Given the description of an element on the screen output the (x, y) to click on. 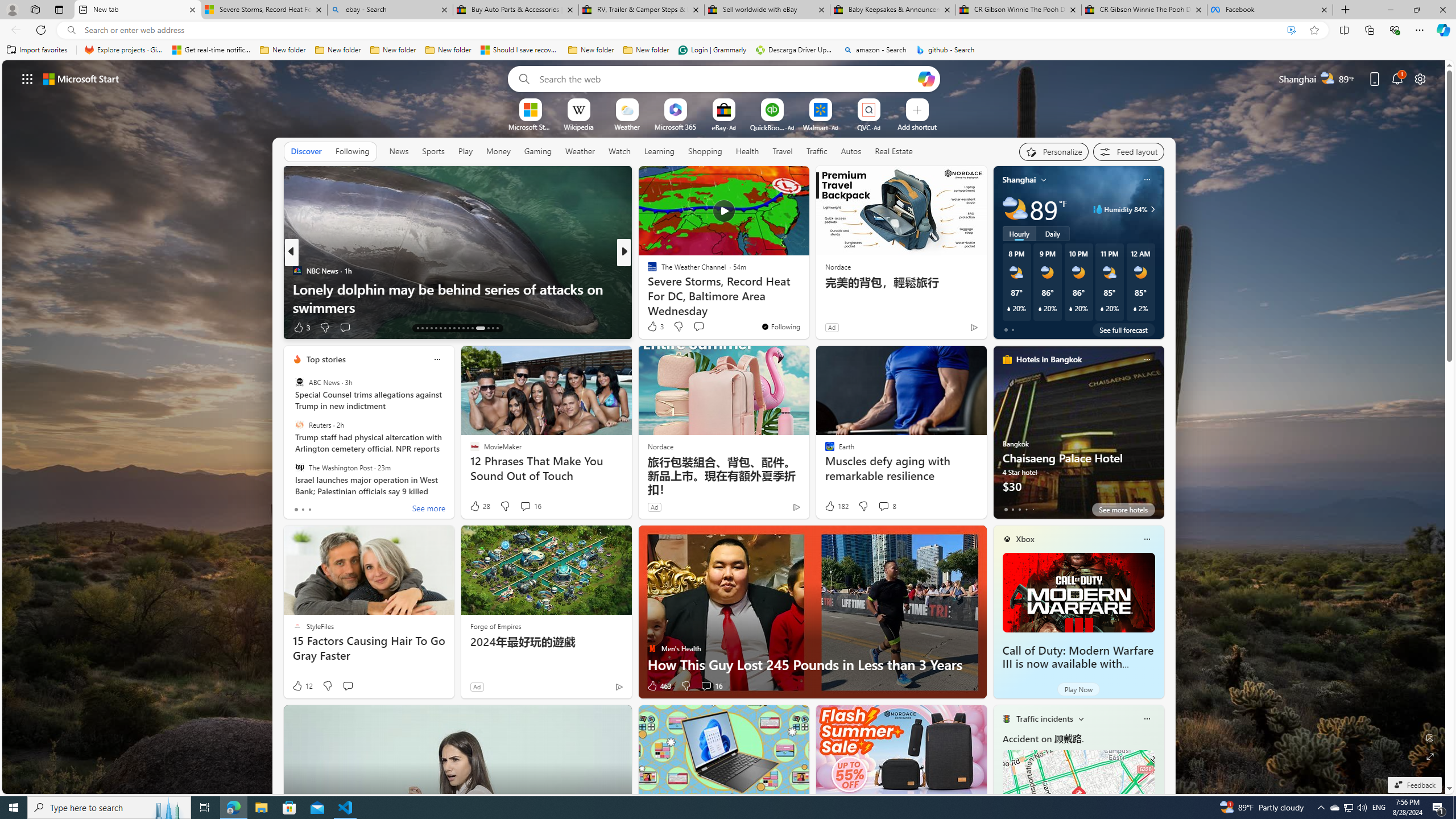
NBC News (296, 270)
Hotels in Bangkok (1048, 359)
Change scenarios (1080, 718)
